Given the description of an element on the screen output the (x, y) to click on. 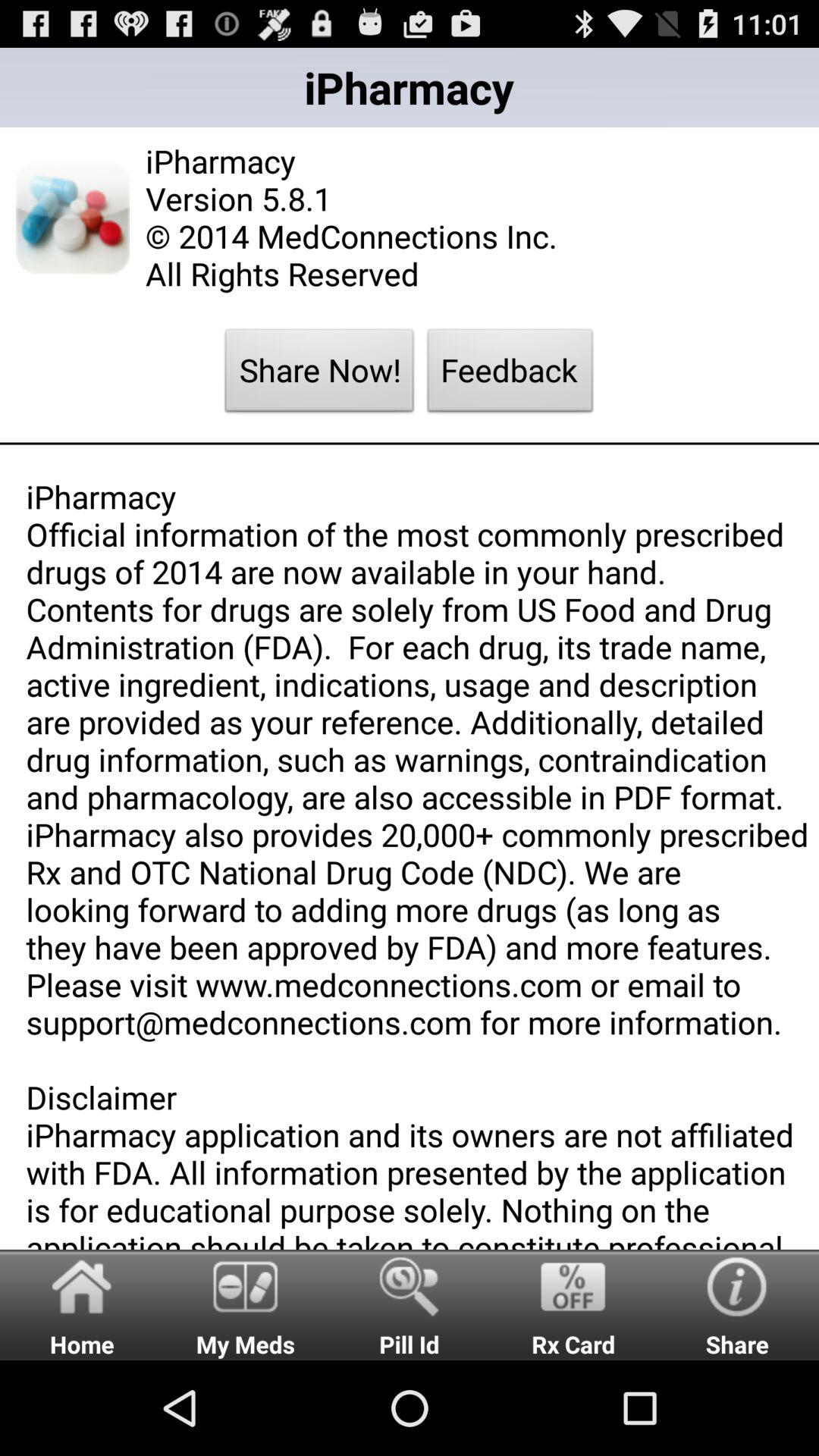
select the icon below ipharmacy version 5 (510, 374)
